Given the description of an element on the screen output the (x, y) to click on. 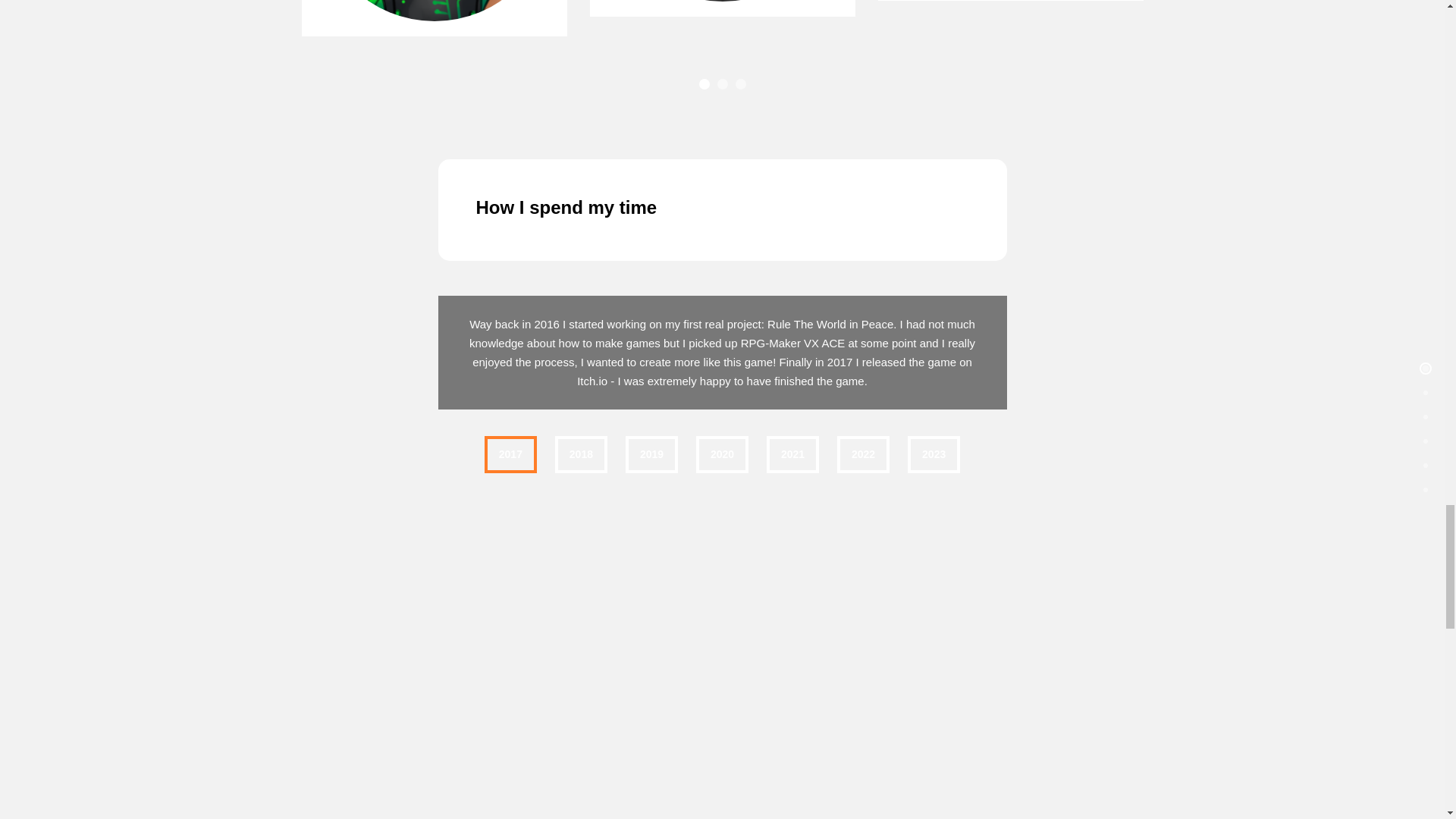
2017 (510, 454)
2018 (580, 454)
2021 (792, 454)
2023 (933, 454)
2020 (721, 454)
2019 (652, 454)
2022 (863, 454)
